Given the description of an element on the screen output the (x, y) to click on. 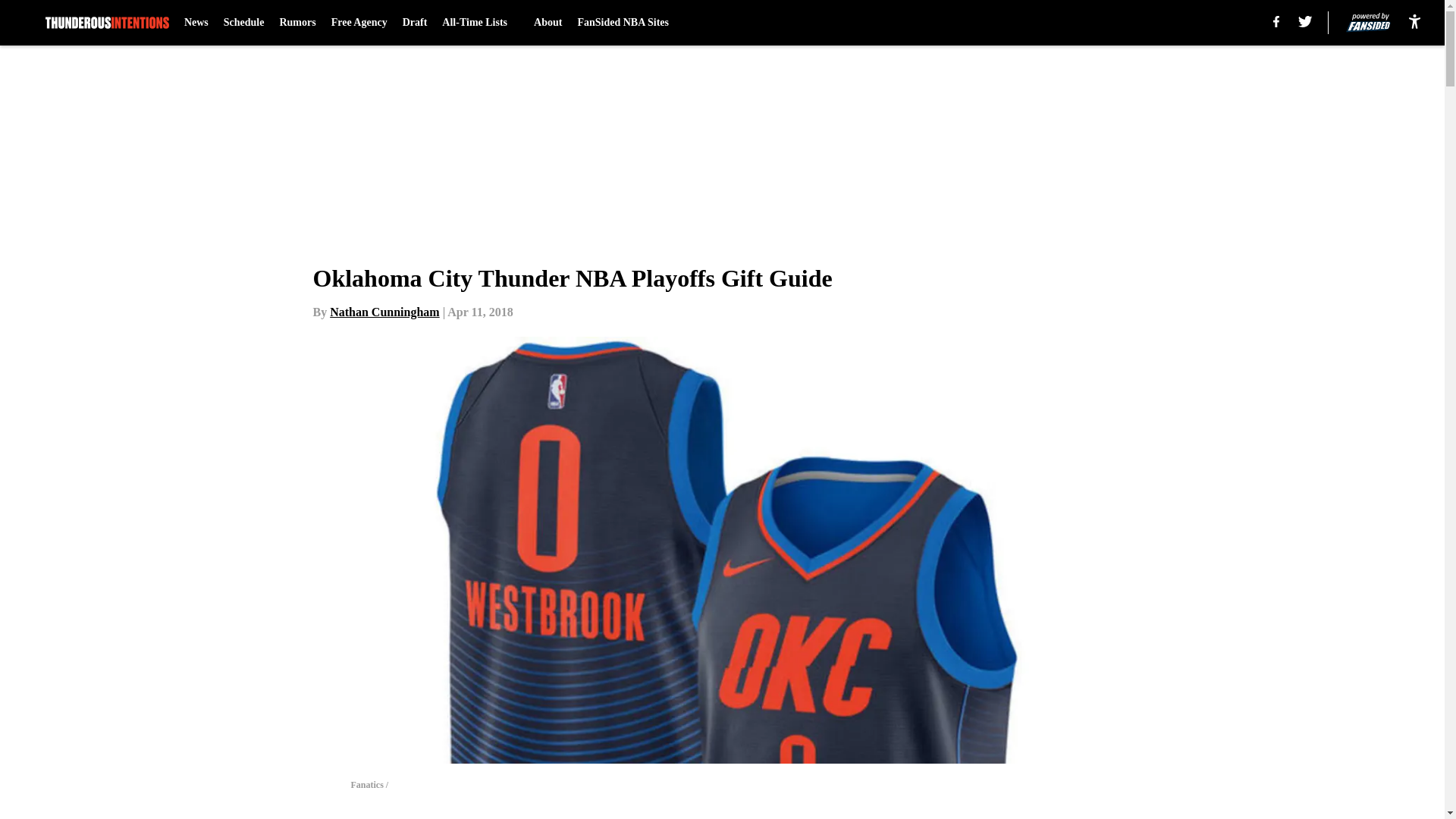
Rumors (297, 22)
Nathan Cunningham (384, 311)
FanSided NBA Sites (622, 22)
Schedule (244, 22)
All-Time Lists (480, 22)
Free Agency (359, 22)
News (196, 22)
Draft (415, 22)
About (548, 22)
